Given the description of an element on the screen output the (x, y) to click on. 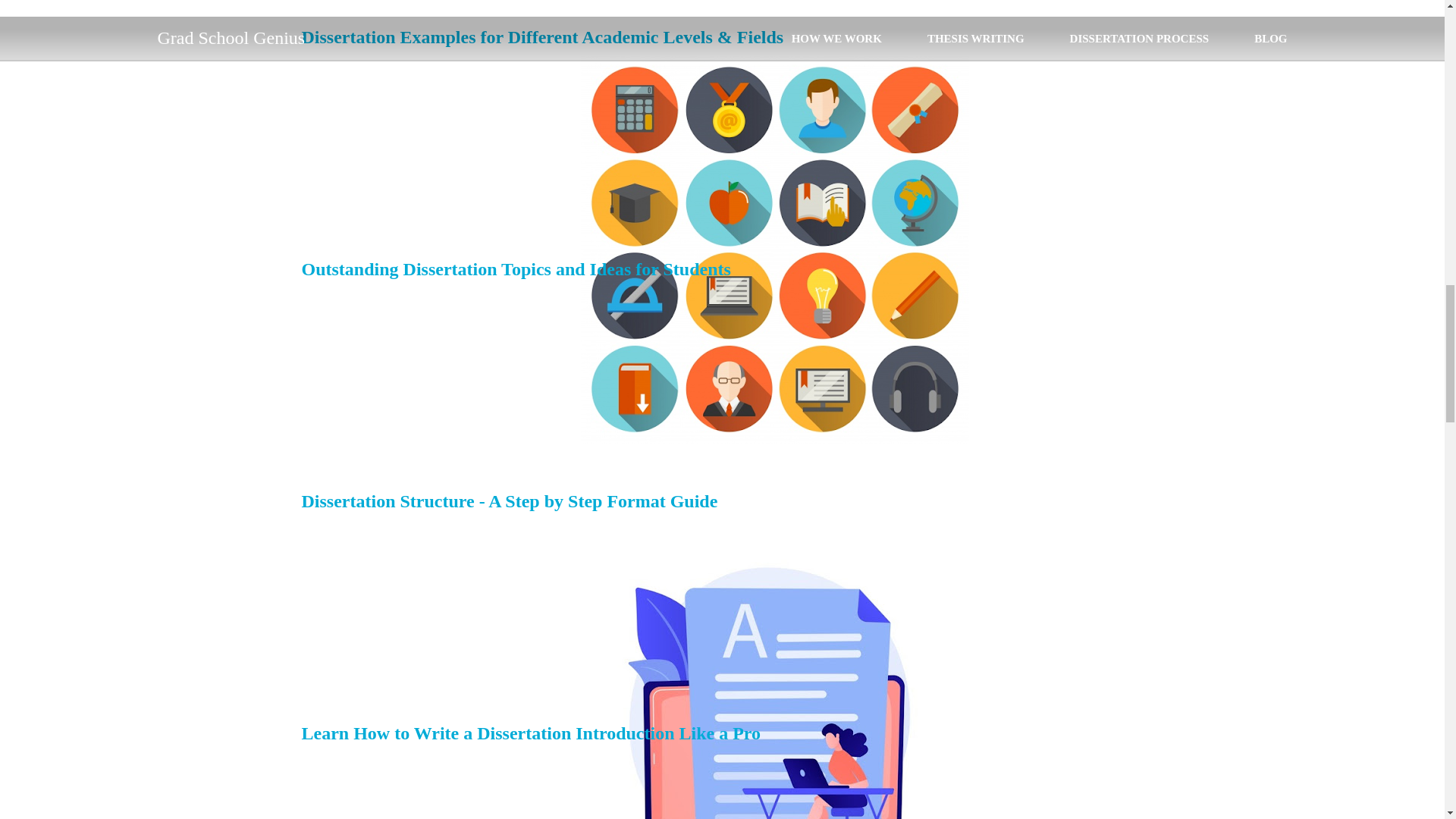
Outstanding Dissertation Topics and Ideas for Students (515, 269)
Learn How to Write a Dissertation Introduction Like a Pro (531, 732)
Dissertation Structure - A Step by Step Format Guide (509, 501)
